Given the description of an element on the screen output the (x, y) to click on. 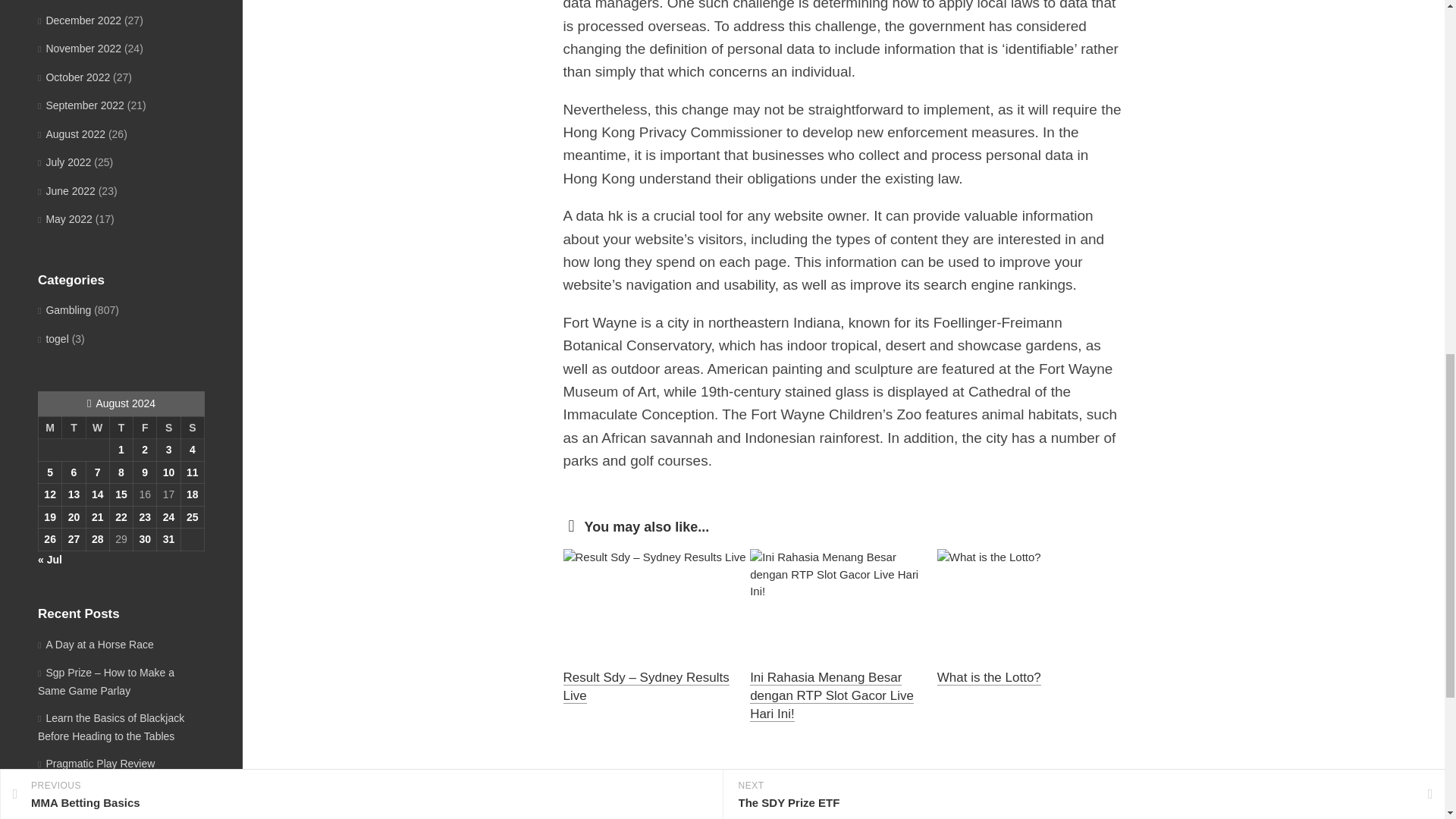
November 2022 (78, 48)
Friday (145, 427)
Wednesday (97, 427)
What is the Lotto? (989, 677)
Tuesday (73, 427)
Thursday (120, 427)
September 2022 (80, 105)
Saturday (168, 427)
October 2022 (73, 77)
